Given the description of an element on the screen output the (x, y) to click on. 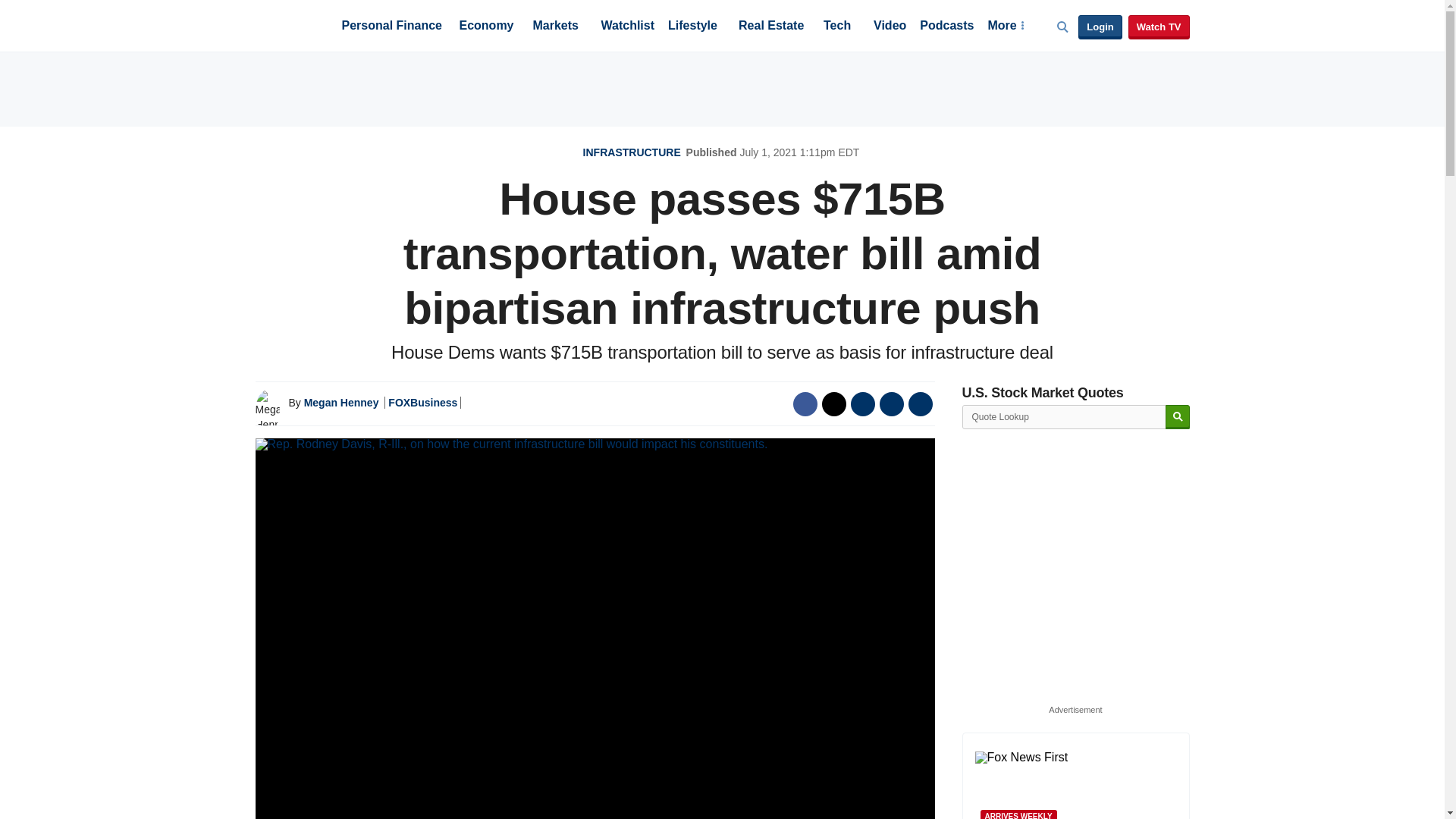
Lifestyle (692, 27)
Markets (555, 27)
Tech (837, 27)
More (1005, 27)
Podcasts (947, 27)
Watchlist (626, 27)
Search (1176, 416)
Watch TV (1158, 27)
Economy (486, 27)
Login (1099, 27)
